Given the description of an element on the screen output the (x, y) to click on. 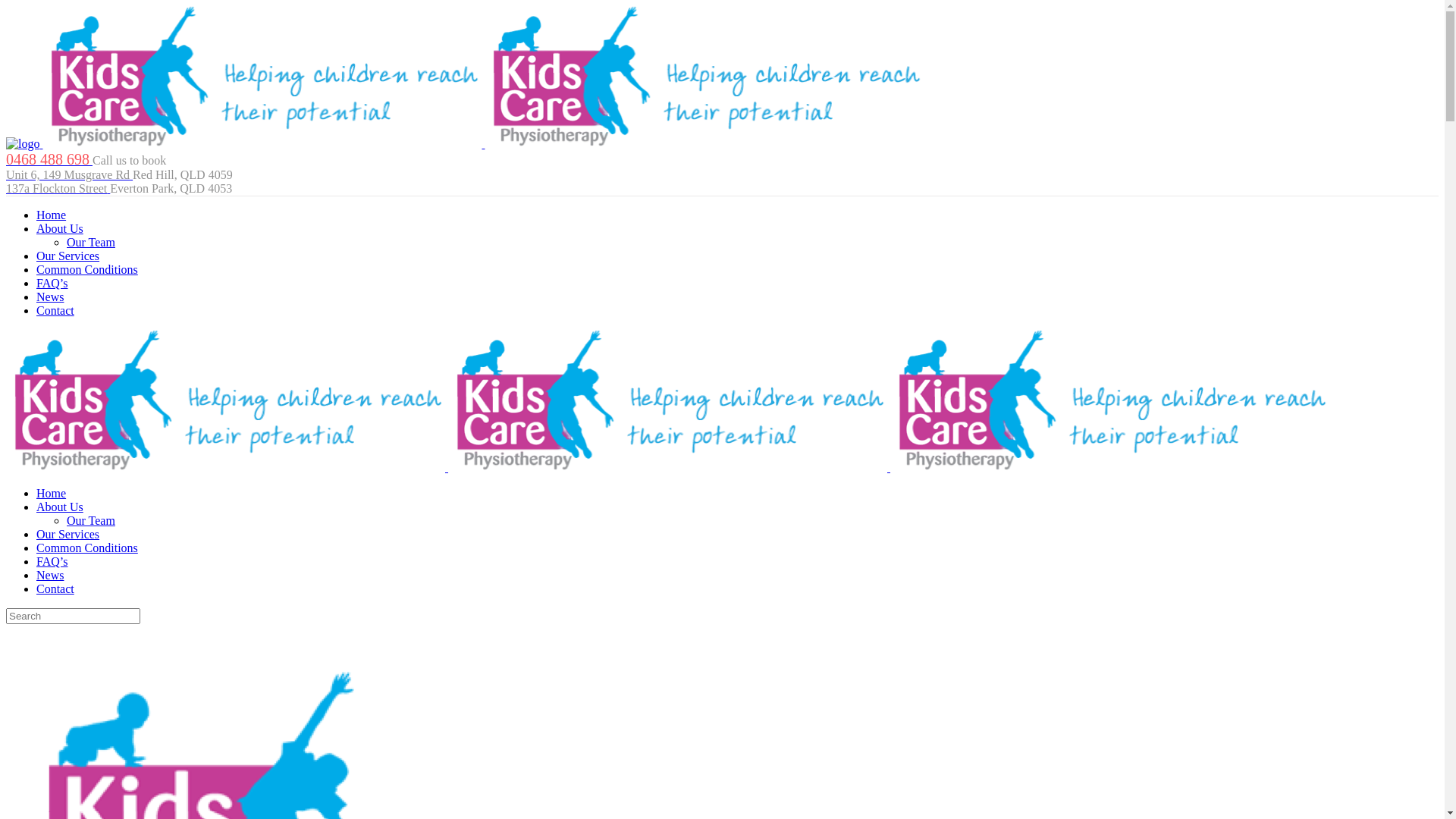
Common Conditions Element type: text (87, 547)
Our Services Element type: text (67, 533)
Our Services Element type: text (67, 255)
0468 488 698 Element type: text (49, 159)
About Us Element type: text (59, 228)
News Element type: text (49, 574)
137a Flockton Street Element type: text (57, 188)
About Us Element type: text (59, 506)
Unit 6, 149 Musgrave Rd Element type: text (69, 174)
News Element type: text (49, 296)
Contact Element type: text (55, 310)
Common Conditions Element type: text (87, 269)
Contact Element type: text (55, 588)
Home Element type: text (50, 492)
Home Element type: text (50, 214)
Our Team Element type: text (90, 520)
Our Team Element type: text (90, 241)
